Given the description of an element on the screen output the (x, y) to click on. 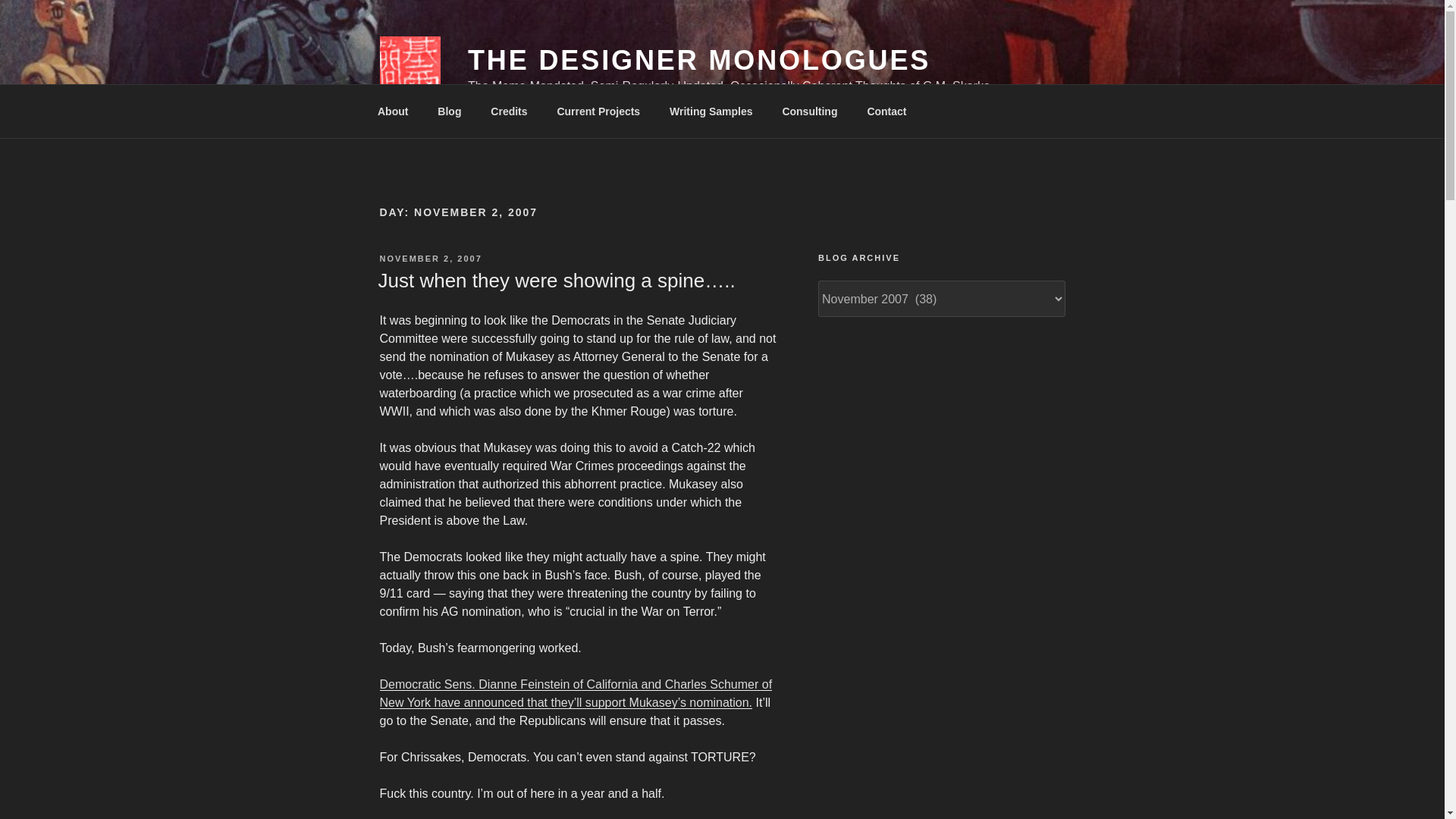
About (392, 110)
Credits (508, 110)
Current Projects (598, 110)
Consulting (809, 110)
THE DESIGNER MONOLOGUES (698, 60)
Blog (449, 110)
Contact (886, 110)
NOVEMBER 2, 2007 (429, 257)
Writing Samples (710, 110)
